Given the description of an element on the screen output the (x, y) to click on. 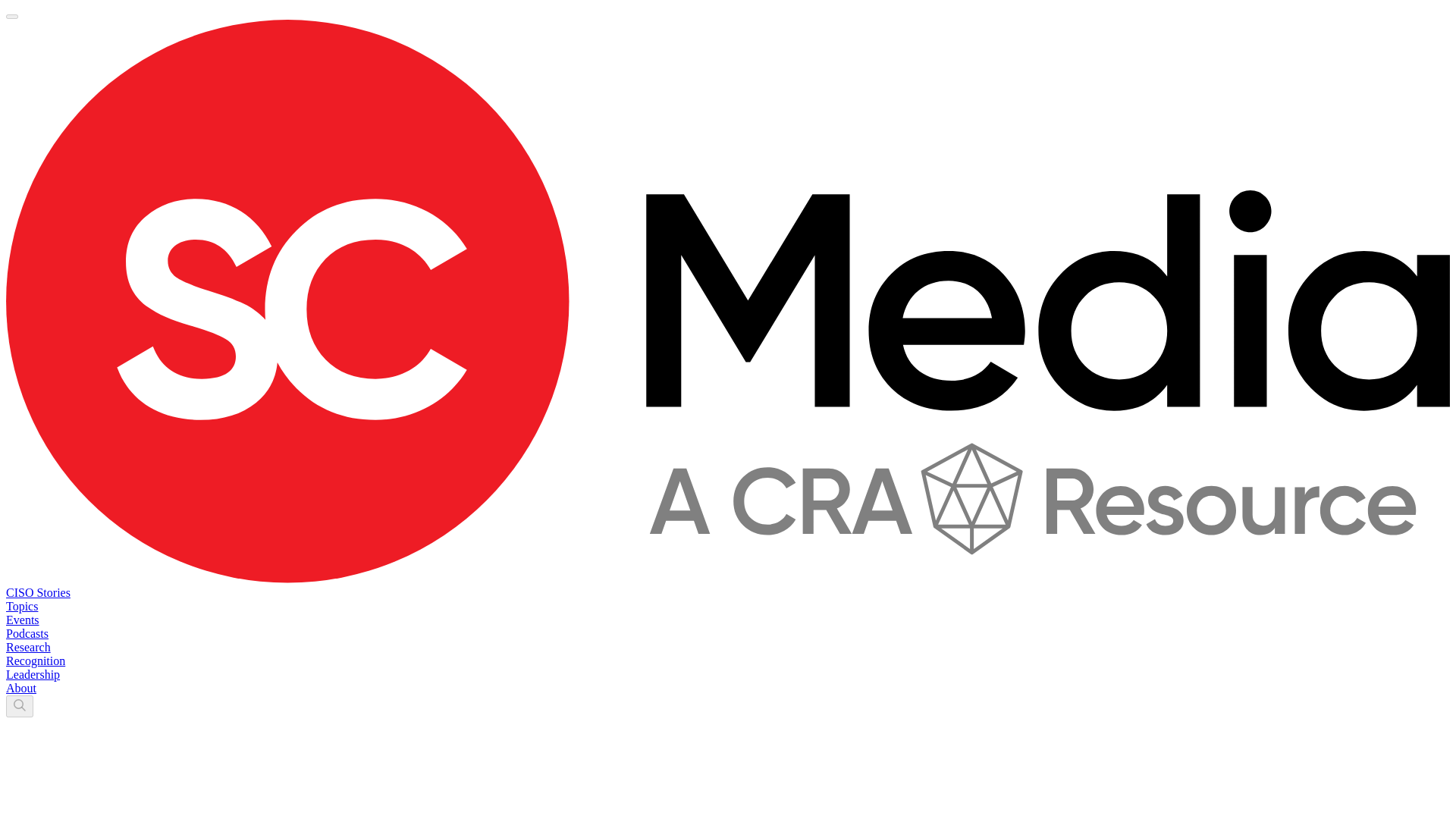
Research (27, 646)
Topics (21, 605)
Leadership (32, 674)
Recognition (35, 660)
About (20, 687)
CISO Stories (37, 592)
Events (22, 619)
Podcasts (26, 633)
